Given the description of an element on the screen output the (x, y) to click on. 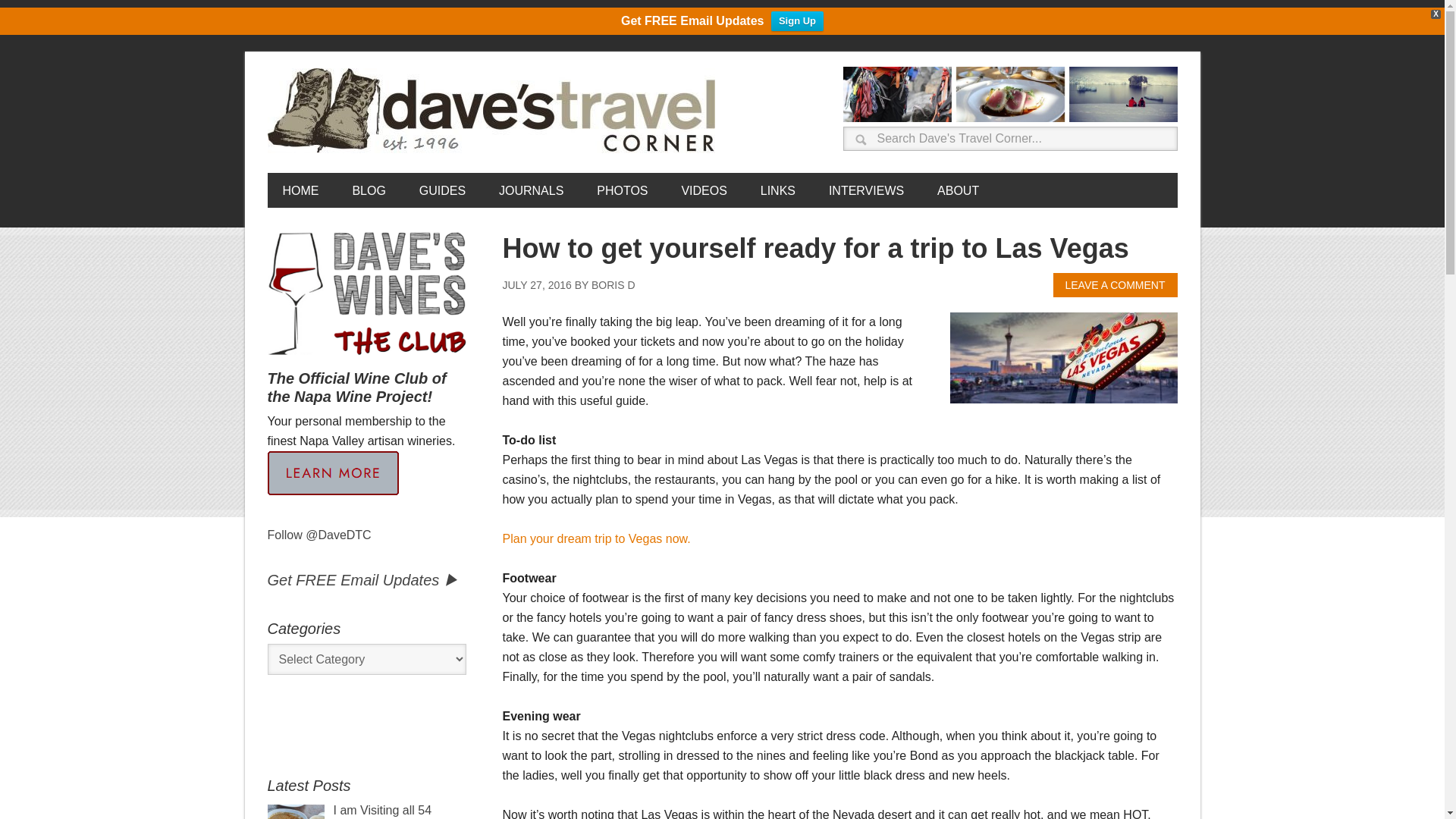
INTERVIEWS (865, 190)
Plan your dream trip to Vegas now. (596, 538)
LINKS (777, 190)
GUIDES (442, 190)
DAVE'S TRAVEL CORNER (494, 110)
HOME (299, 190)
ABOUT (957, 190)
